Given the description of an element on the screen output the (x, y) to click on. 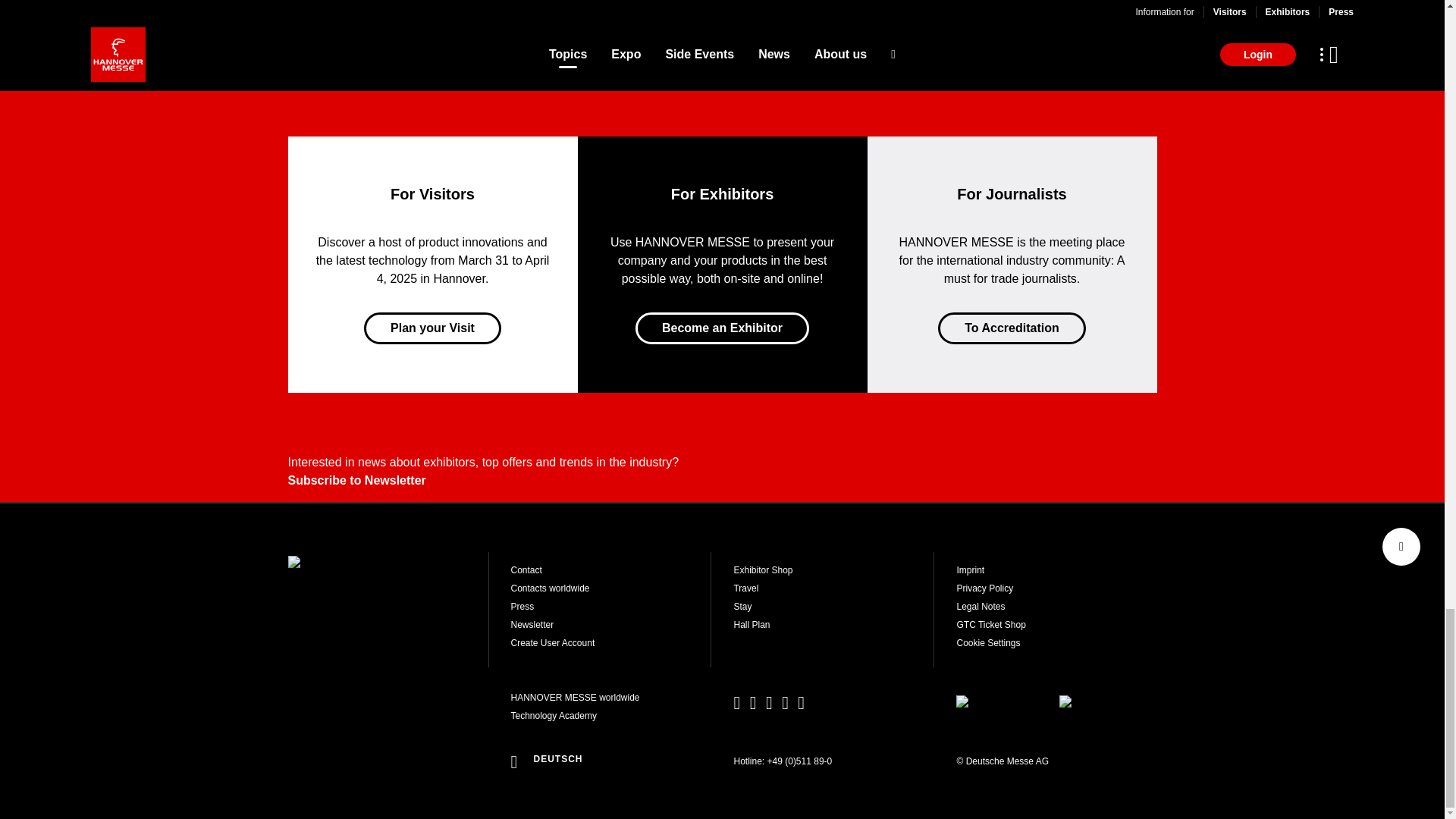
Become an Exhibitor (721, 327)
Show all (721, 1)
Plan your Visit (432, 327)
To Accreditation (1010, 327)
